Given the description of an element on the screen output the (x, y) to click on. 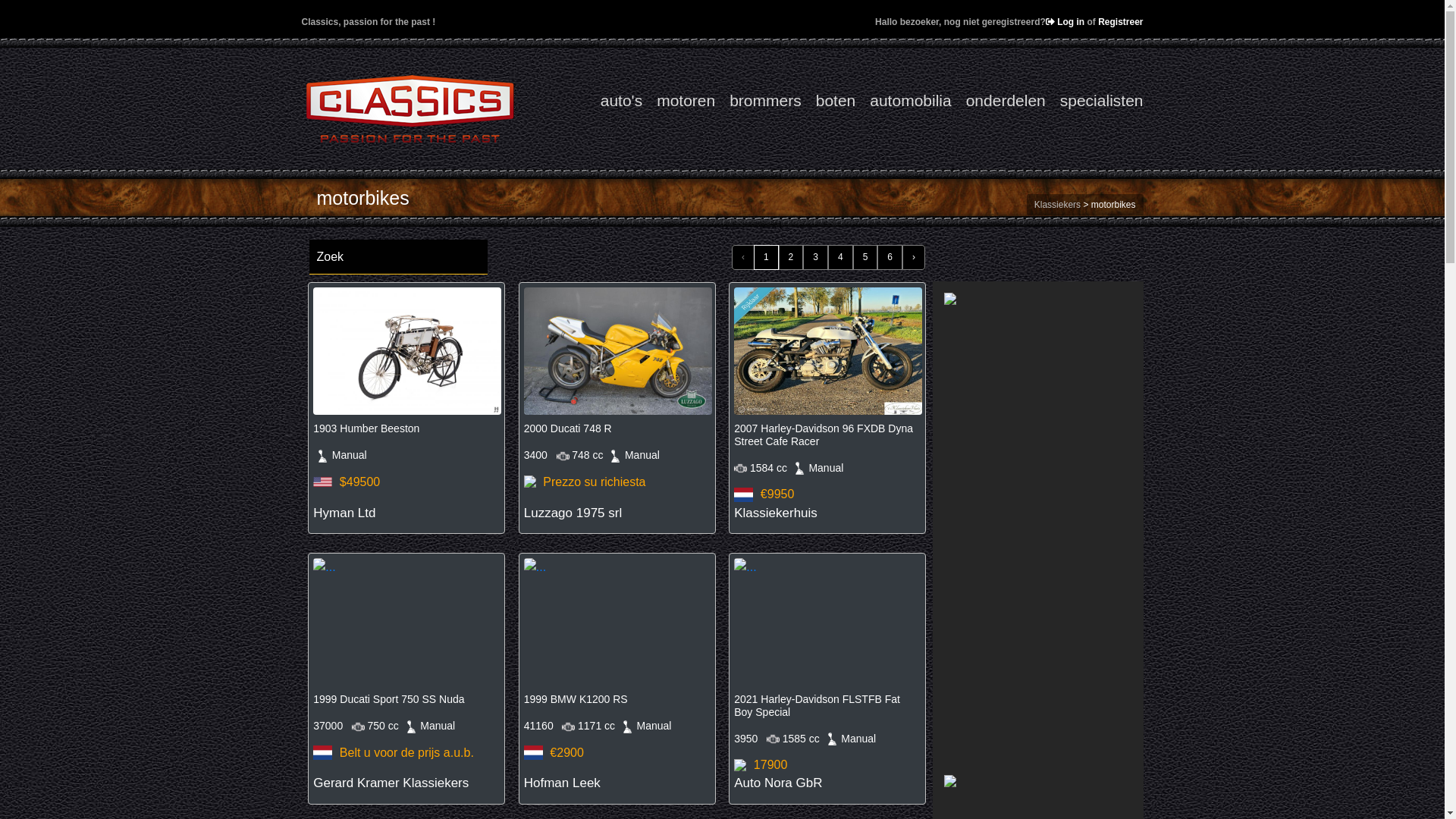
4 Element type: text (840, 256)
motoren Element type: text (678, 106)
Hofman Leek Element type: text (562, 782)
3 Element type: text (815, 256)
6 Element type: text (889, 256)
2 Element type: text (790, 256)
Klassiekers Element type: text (1058, 204)
5 Element type: text (865, 256)
Advertisement Element type: hover (1038, 539)
brommers Element type: text (758, 106)
specialisten Element type: text (1094, 106)
boten Element type: text (828, 106)
Hyman Ltd Element type: text (344, 512)
Log in Element type: text (1064, 21)
Klassiekerhuis Element type: text (775, 512)
auto's Element type: text (614, 106)
Registreer Element type: text (1120, 21)
Auto Nora GbR Element type: text (778, 782)
automobilia Element type: text (902, 106)
onderdelen Element type: text (998, 106)
Luzzago 1975 srl Element type: text (572, 512)
Gerard Kramer Klassiekers Element type: text (390, 782)
